Given the description of an element on the screen output the (x, y) to click on. 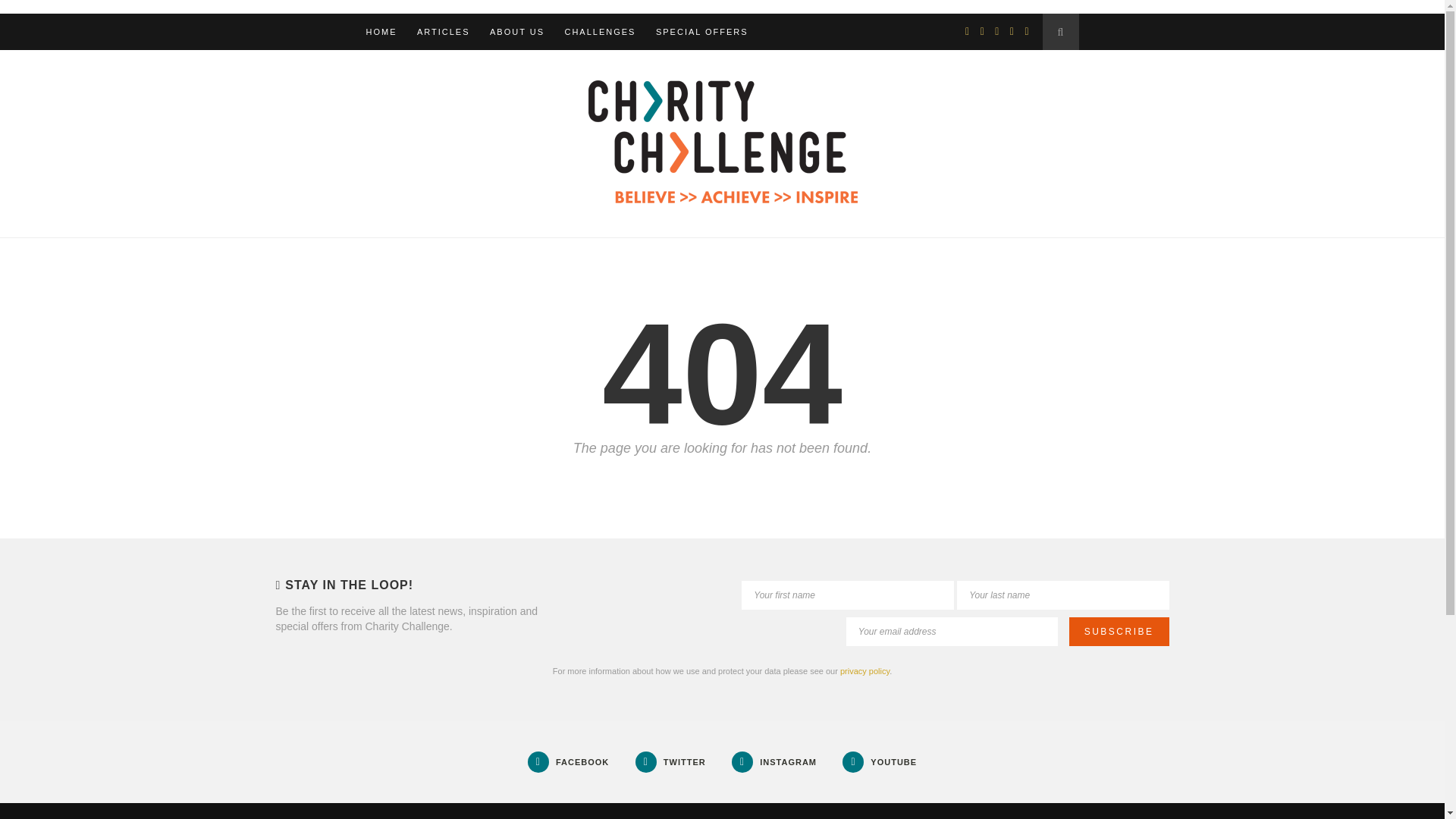
SPECIAL OFFERS (702, 31)
INSTAGRAM (774, 761)
ARTICLES (443, 31)
privacy policy (864, 670)
YOUTUBE (880, 761)
TWITTER (670, 761)
Subscribe (1118, 631)
CHALLENGES (599, 31)
Subscribe (1118, 631)
ABOUT US (516, 31)
FACEBOOK (567, 761)
